Given the description of an element on the screen output the (x, y) to click on. 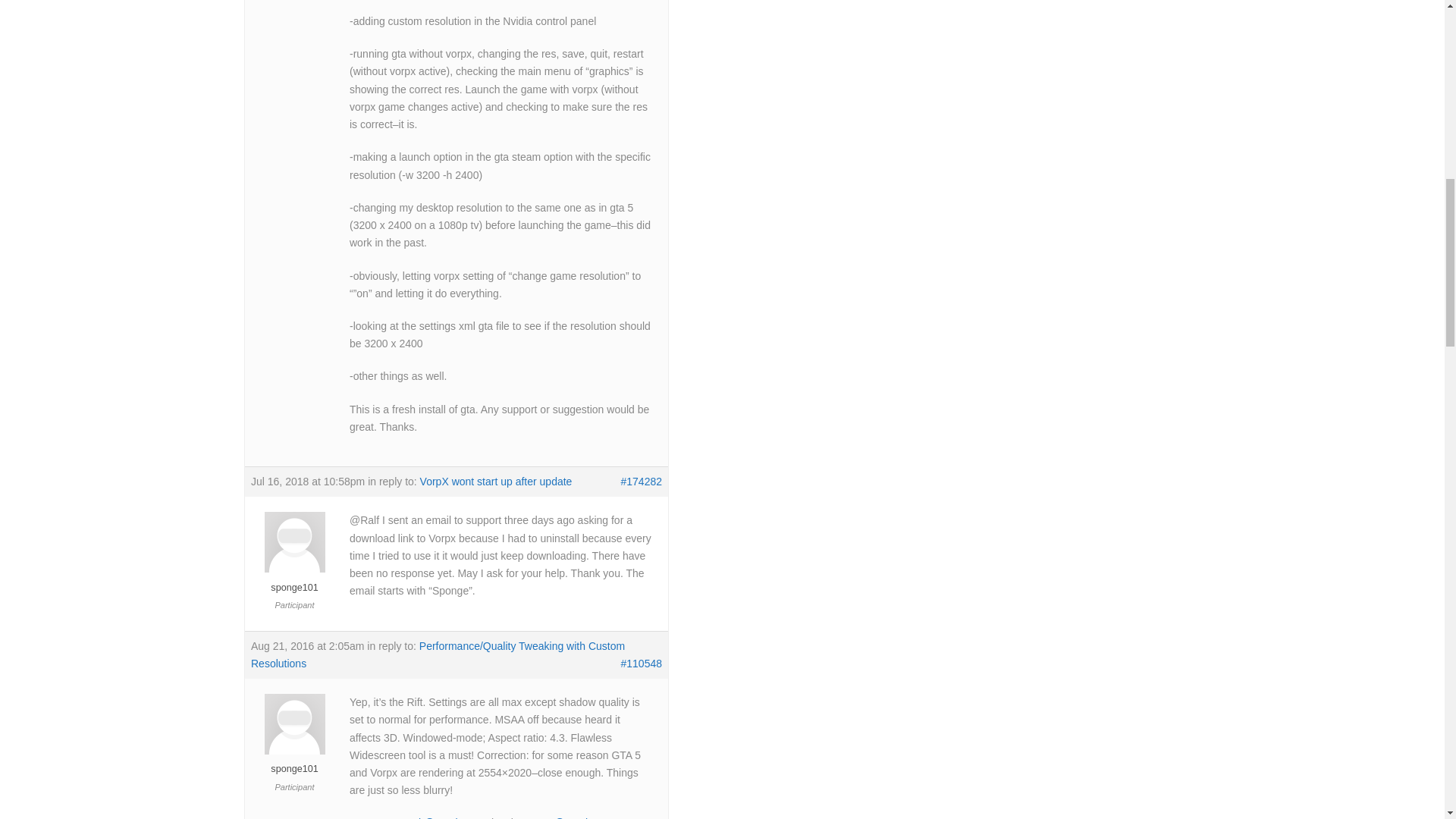
View sponge101's profile (293, 762)
VorpX wont start up after update (496, 481)
sponge101 (293, 580)
View sponge101's profile (293, 580)
